Given the description of an element on the screen output the (x, y) to click on. 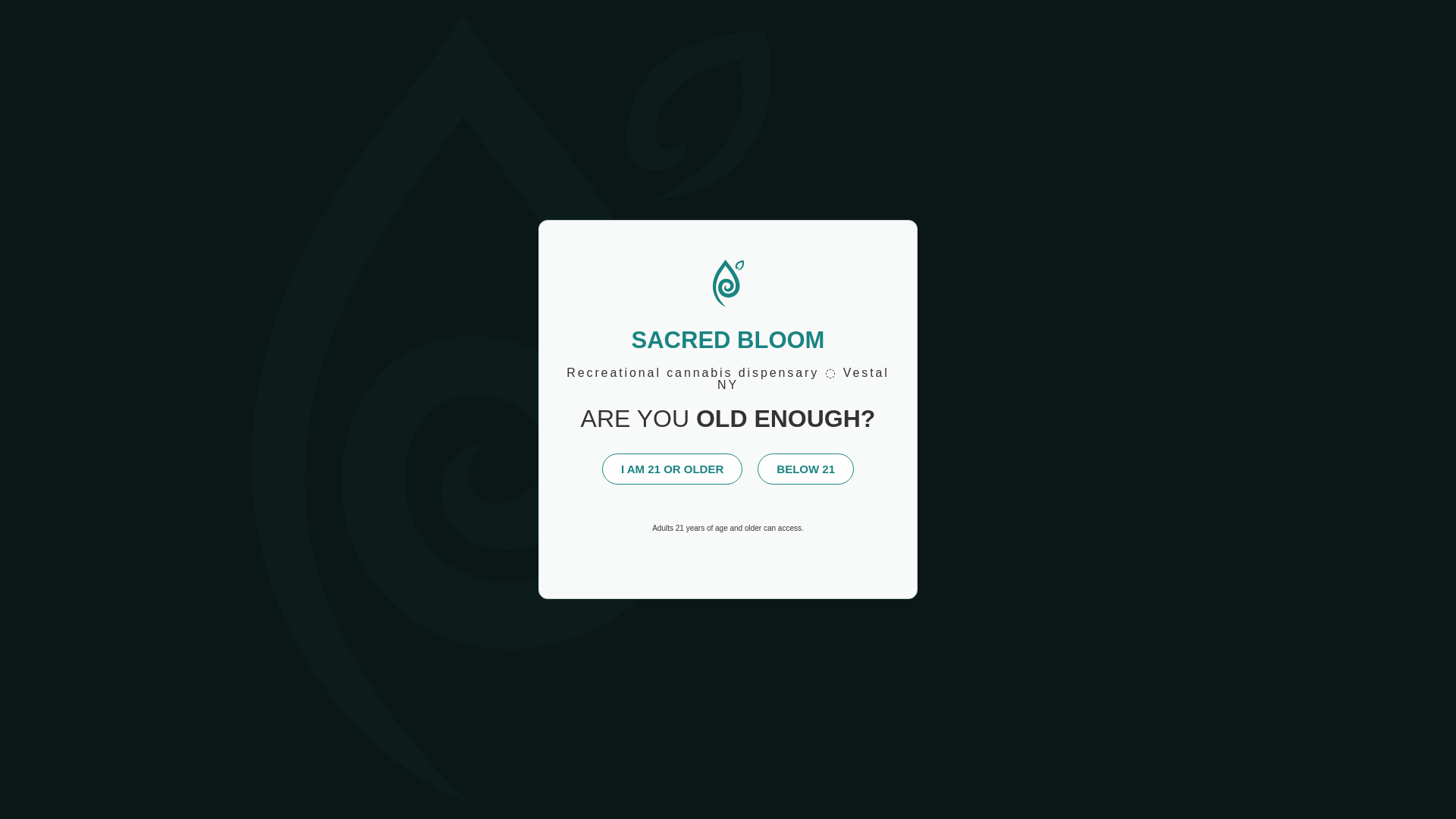
CONSULTATIONS (824, 33)
SHOP NOW (392, 33)
Home (327, 156)
ABOUT (568, 33)
DELIVERY (714, 33)
LOCATION (488, 33)
SACRED BLOOM (165, 33)
BLOG (636, 33)
Mike Bites Blueberry Gummies 10mg 10pk (507, 156)
